Given the description of an element on the screen output the (x, y) to click on. 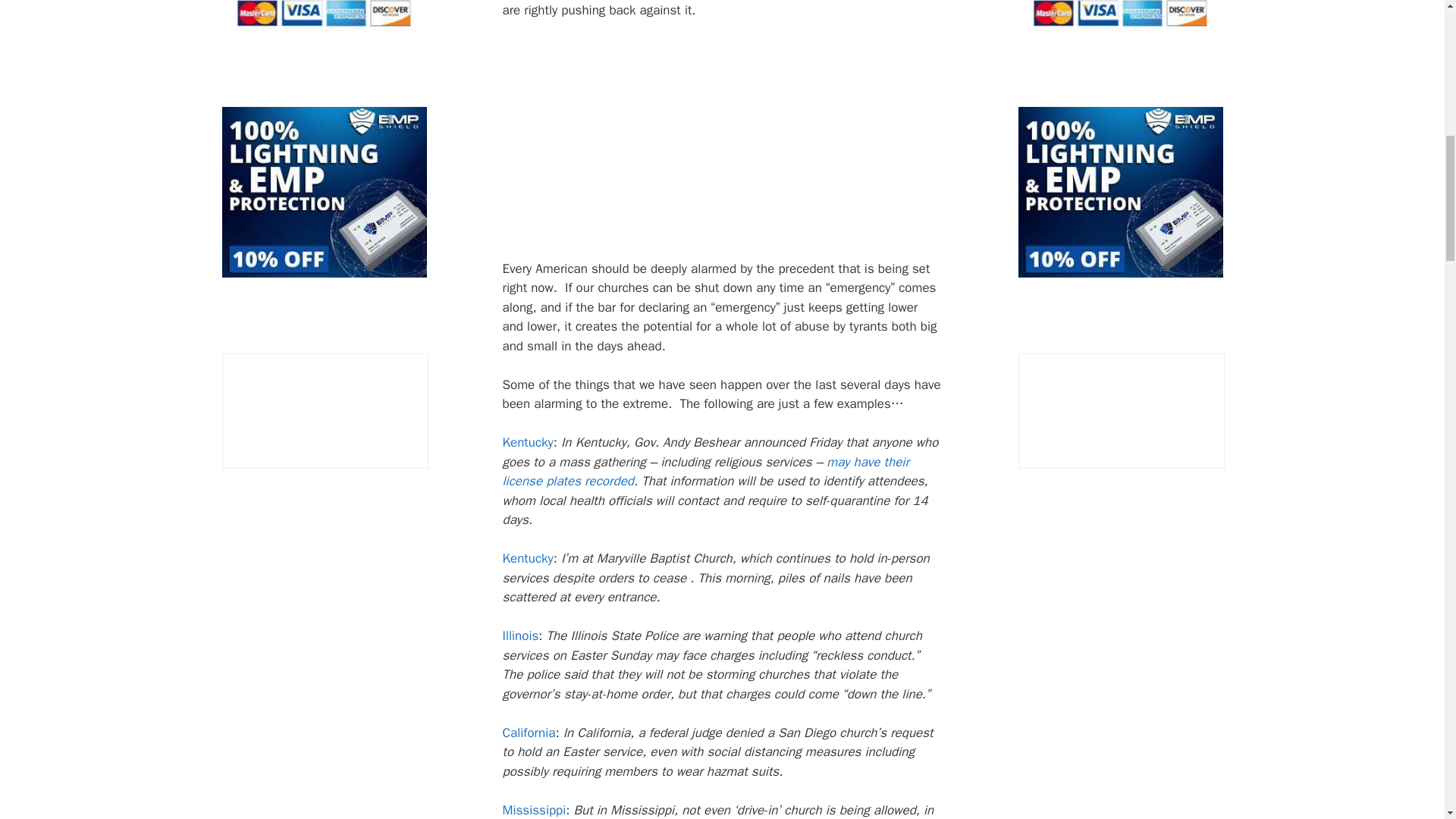
Mississippi (534, 810)
Illinois (520, 635)
Advertisement (756, 145)
Kentucky (527, 558)
Kentucky (527, 558)
Kentucky (527, 442)
Illinois (520, 635)
Kentucky (527, 442)
Mississippi (534, 810)
California (528, 732)
California (528, 732)
may have their license plates recorded (705, 471)
may have their license plates recorded (705, 471)
